Given the description of an element on the screen output the (x, y) to click on. 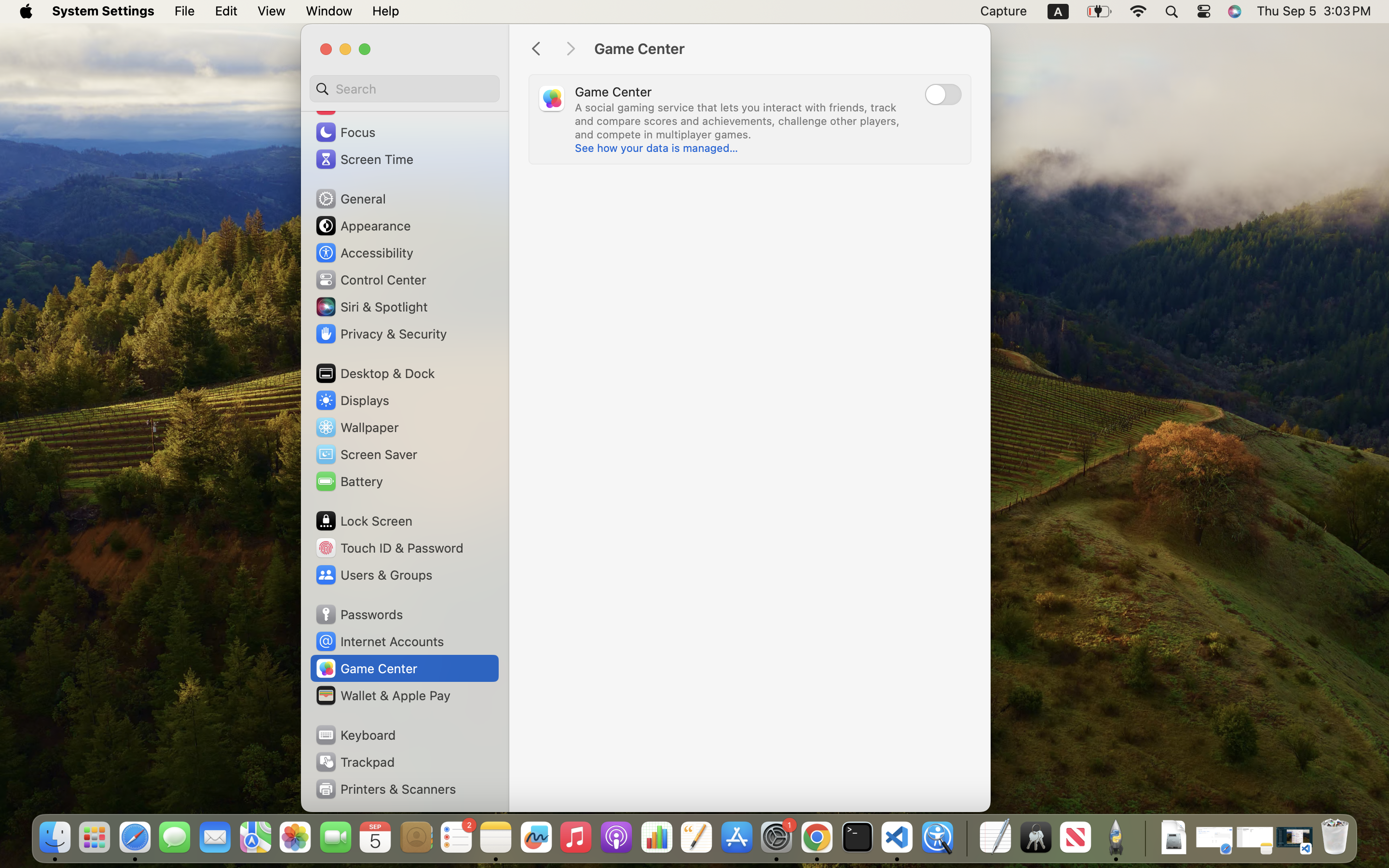
Users & Groups Element type: AXStaticText (373, 574)
Siri & Spotlight Element type: AXStaticText (370, 306)
Displays Element type: AXStaticText (351, 399)
